Given the description of an element on the screen output the (x, y) to click on. 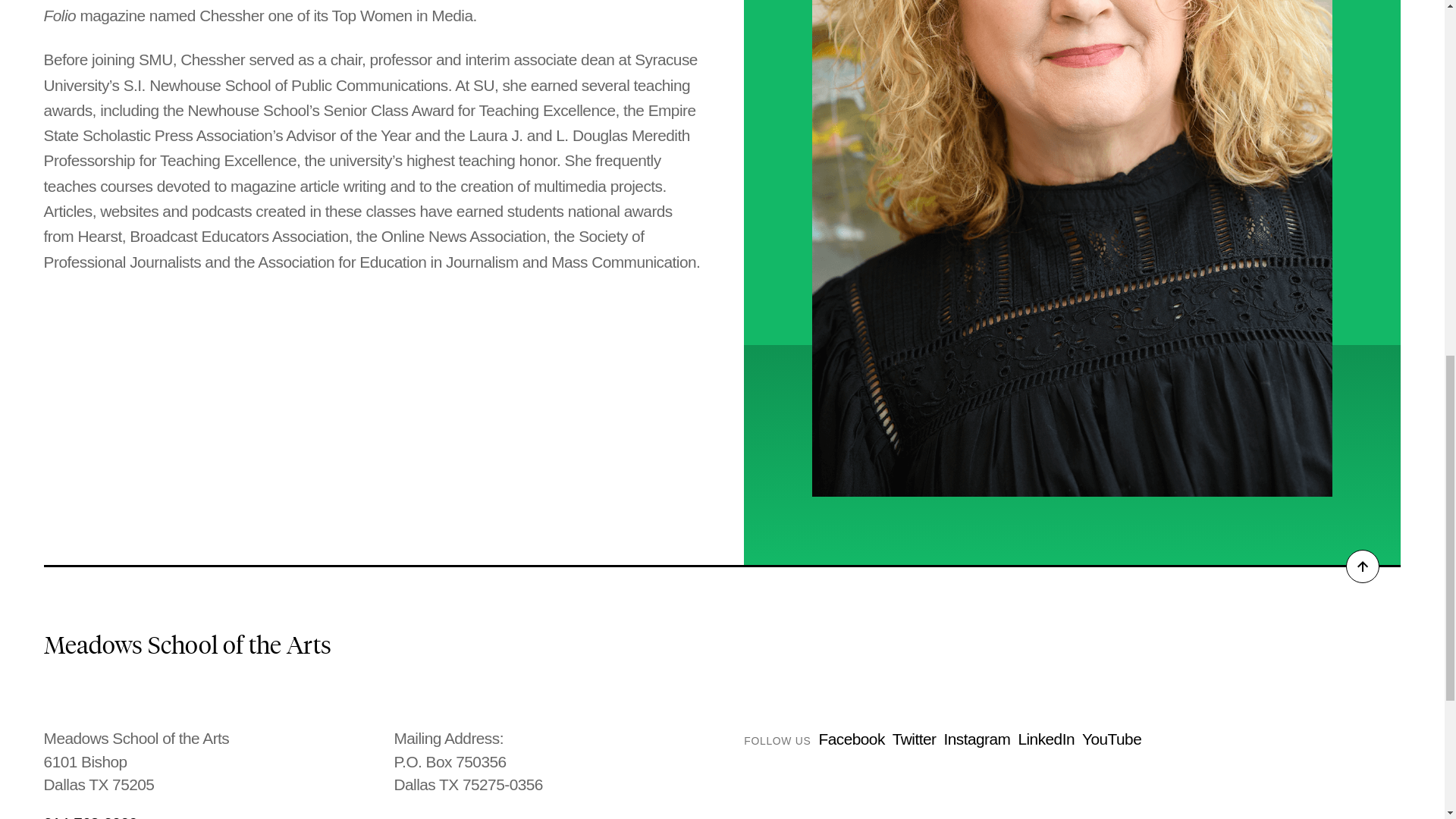
Facebook (850, 738)
Instagram (976, 738)
214-768-2000 (196, 815)
Back to top (1361, 566)
Meadows School of the Arts (187, 644)
LinkedIn (1045, 738)
Twitter (914, 738)
YouTube (1111, 738)
